Given the description of an element on the screen output the (x, y) to click on. 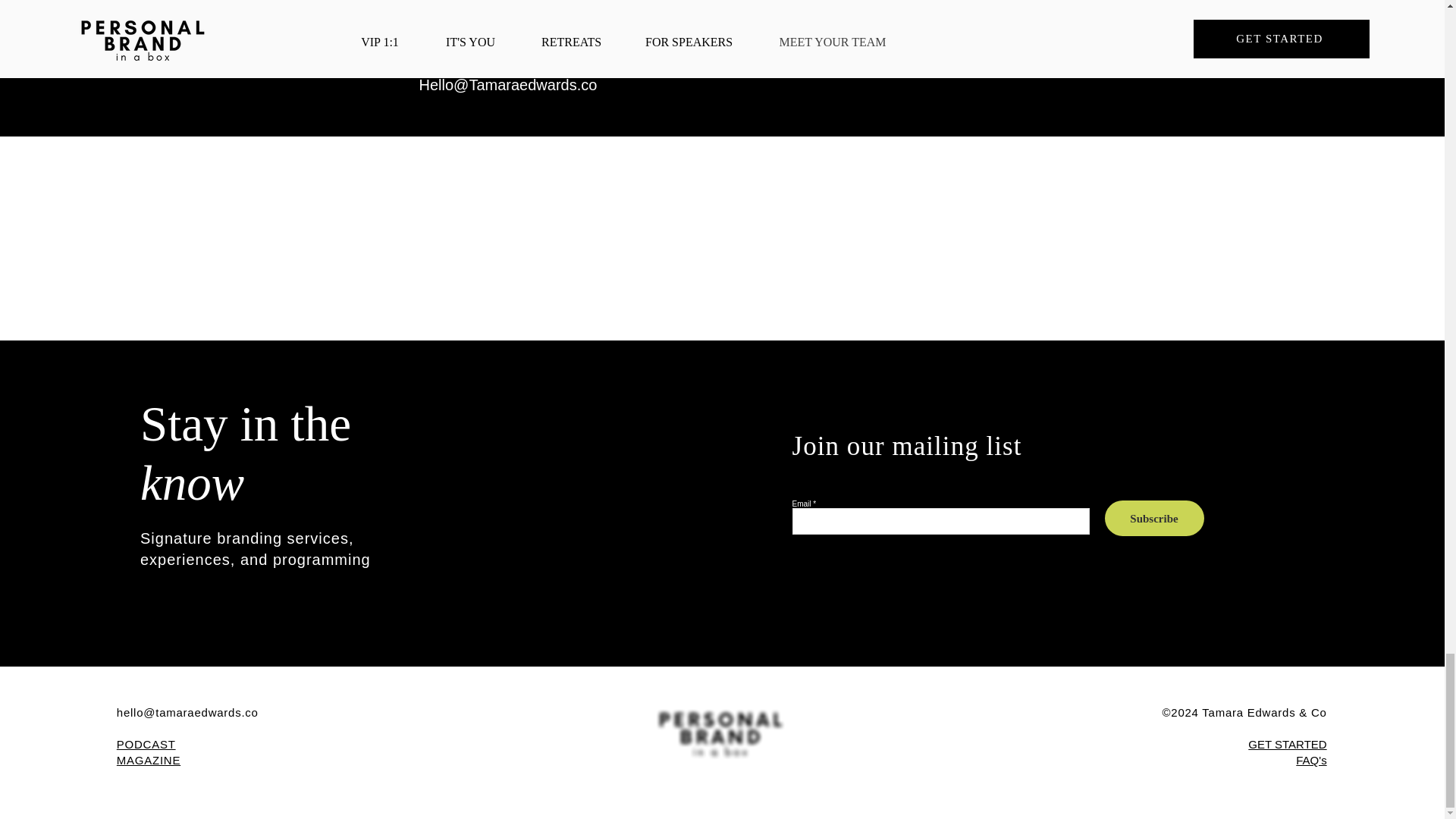
FAQ's (1310, 759)
GET STARTED (1286, 744)
Subscribe (1153, 518)
PODCAST (146, 744)
MAGAZINE (148, 759)
